Given the description of an element on the screen output the (x, y) to click on. 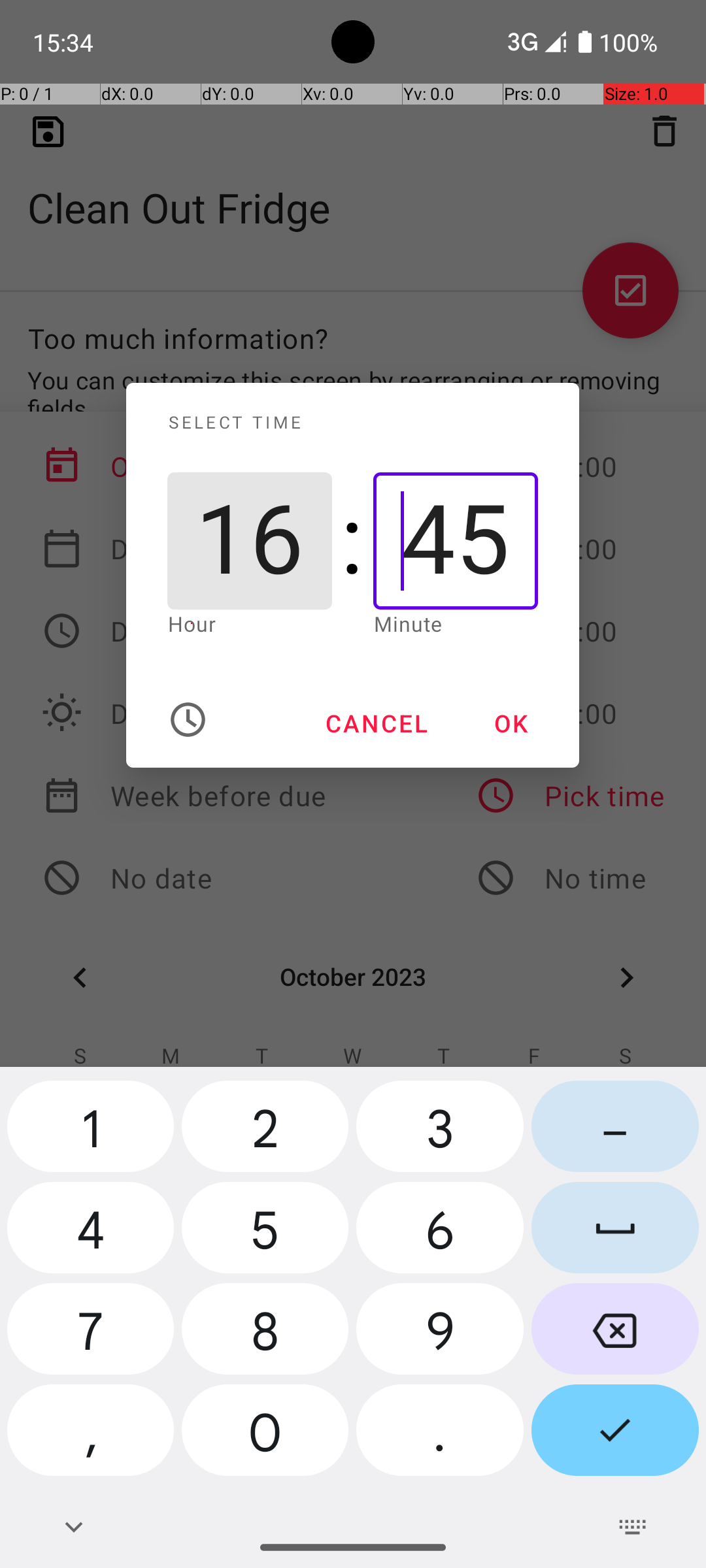
Hour Element type: android.widget.TextView (191, 623)
Minute Element type: android.widget.TextView (407, 623)
Switch to clock mode for the time input. Element type: android.widget.Button (188, 719)
